Given the description of an element on the screen output the (x, y) to click on. 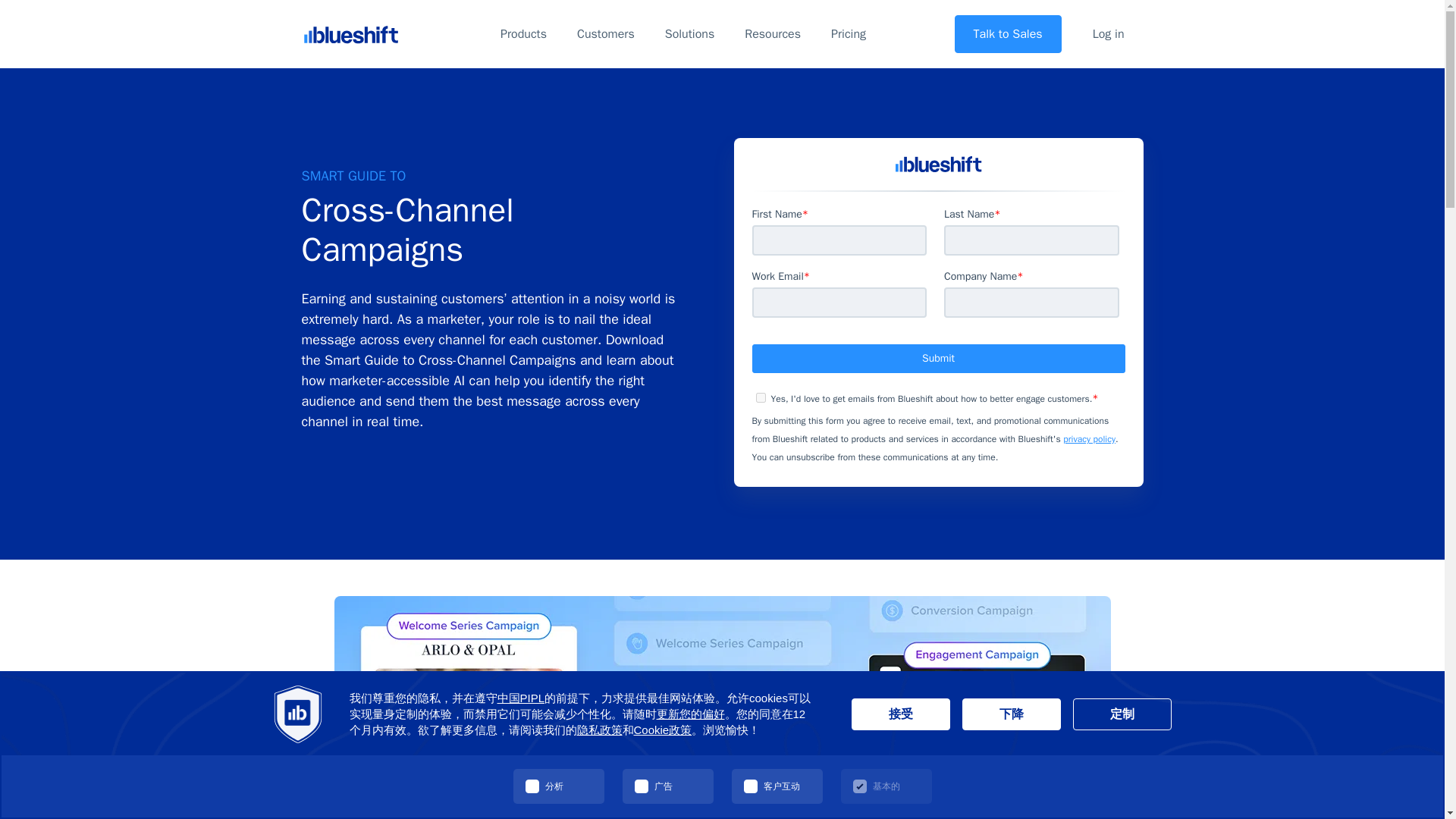
Submit (938, 358)
Customers (605, 34)
Solutions (689, 34)
Products (523, 34)
true (760, 397)
